Given the description of an element on the screen output the (x, y) to click on. 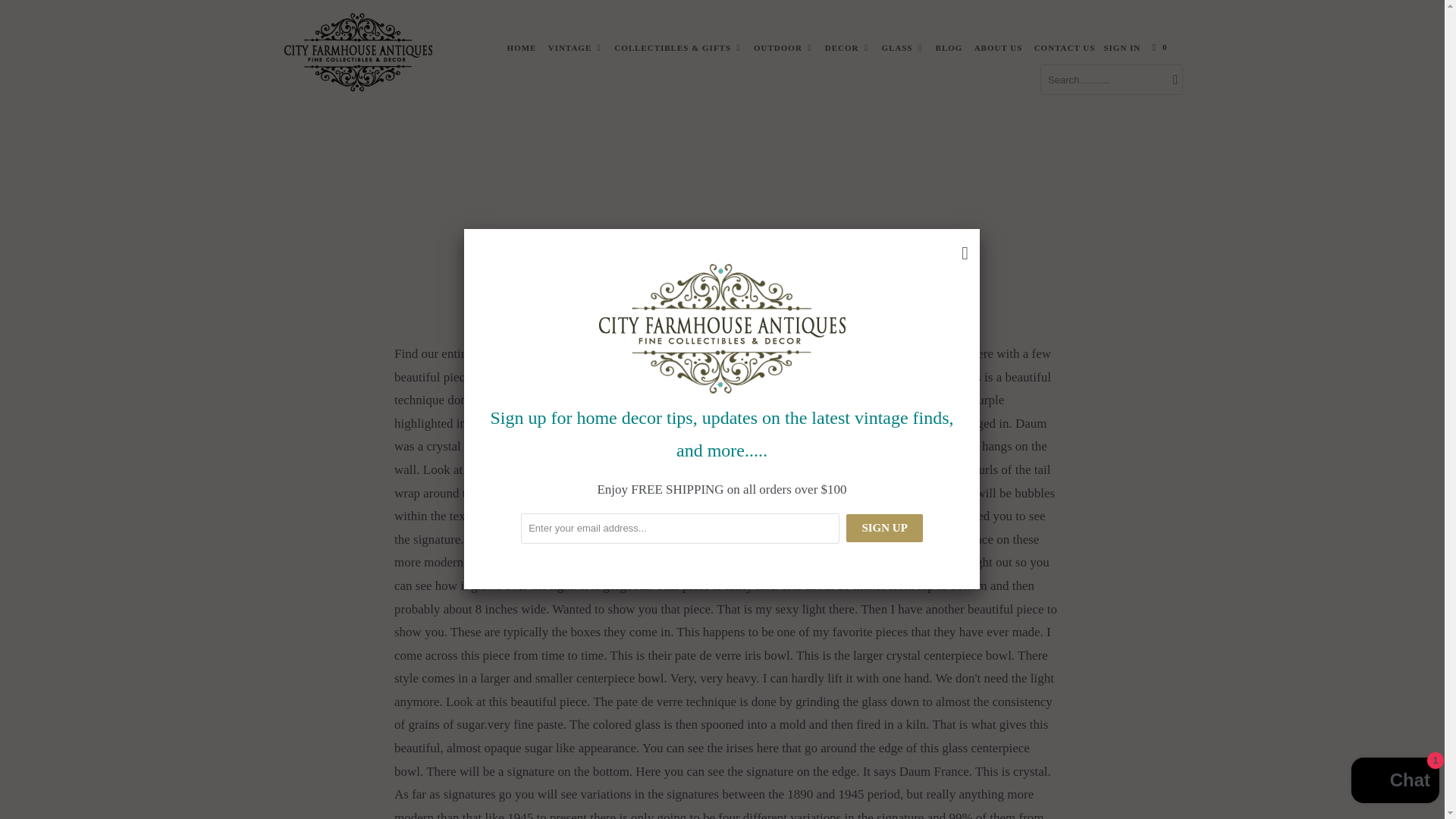
How to Identify Daum Crystal Glass (727, 38)
